Given the description of an element on the screen output the (x, y) to click on. 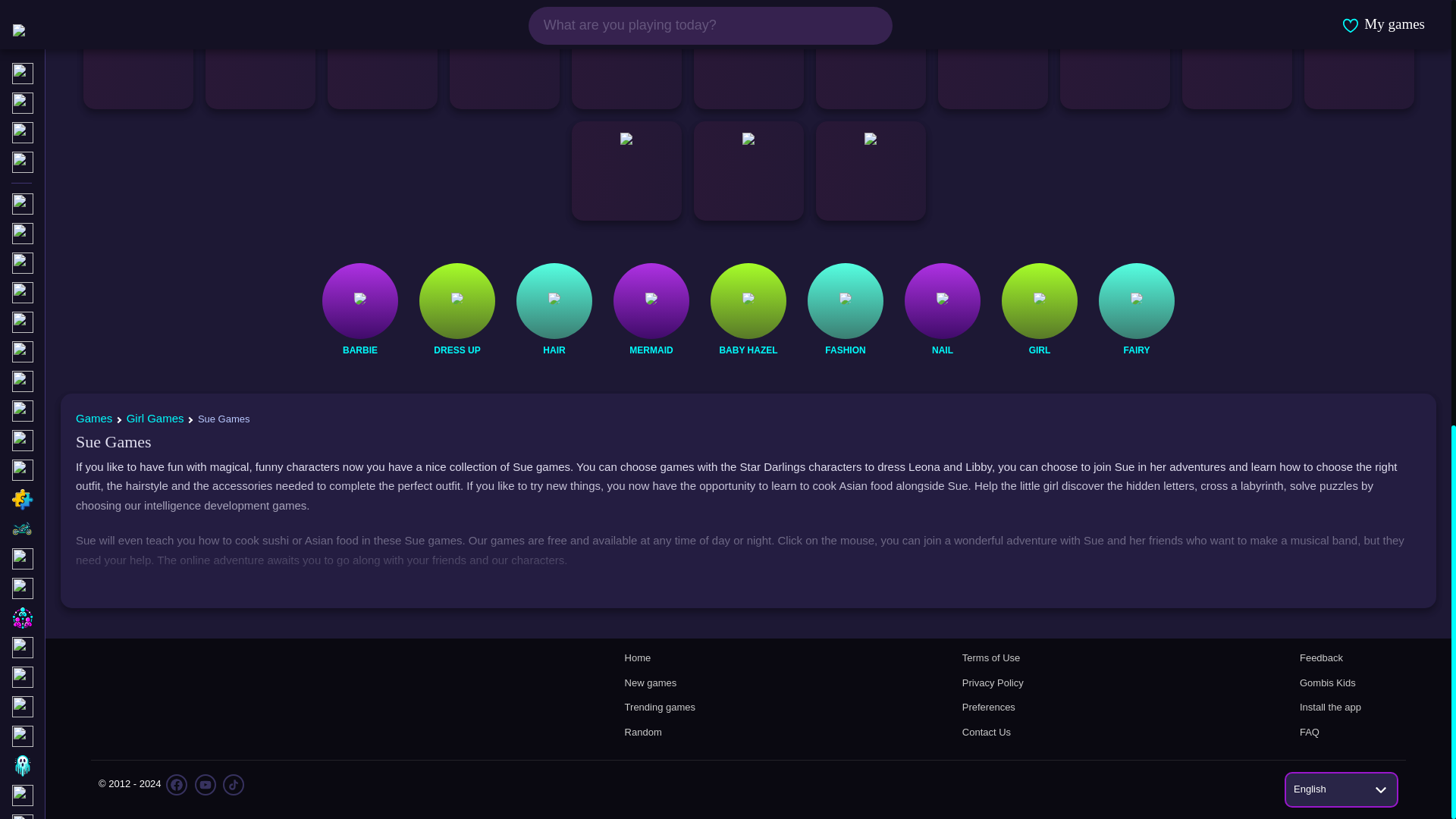
Nail Games (942, 350)
Fairy games (1136, 350)
Girl Games (1039, 350)
Mermaid Games (651, 350)
Hair Games (553, 350)
Barbie Games (359, 350)
Baby Hazel Games (748, 350)
Dress Up Games (457, 350)
Fashion Games (844, 350)
